Given the description of an element on the screen output the (x, y) to click on. 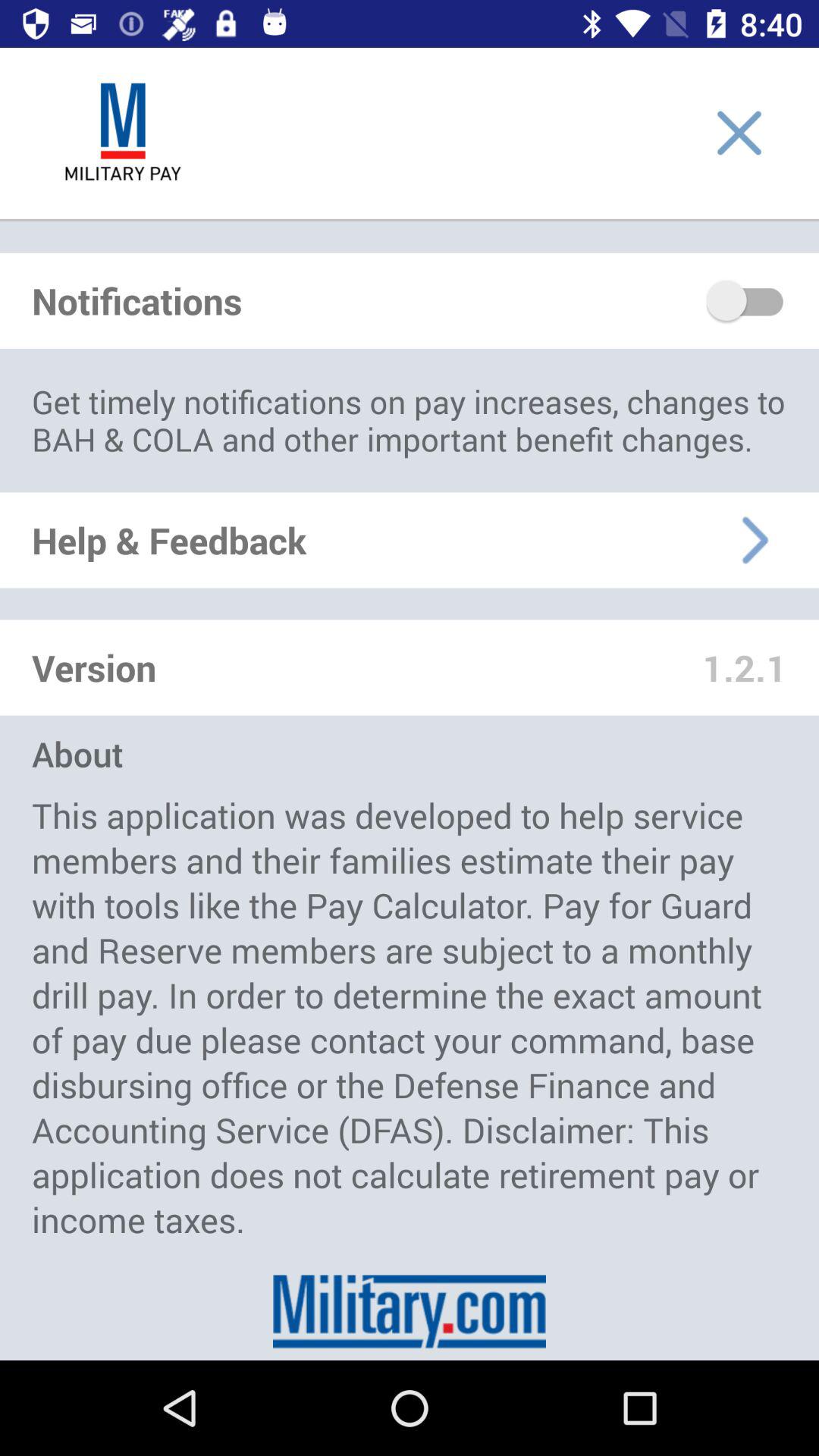
go to close (739, 132)
